Given the description of an element on the screen output the (x, y) to click on. 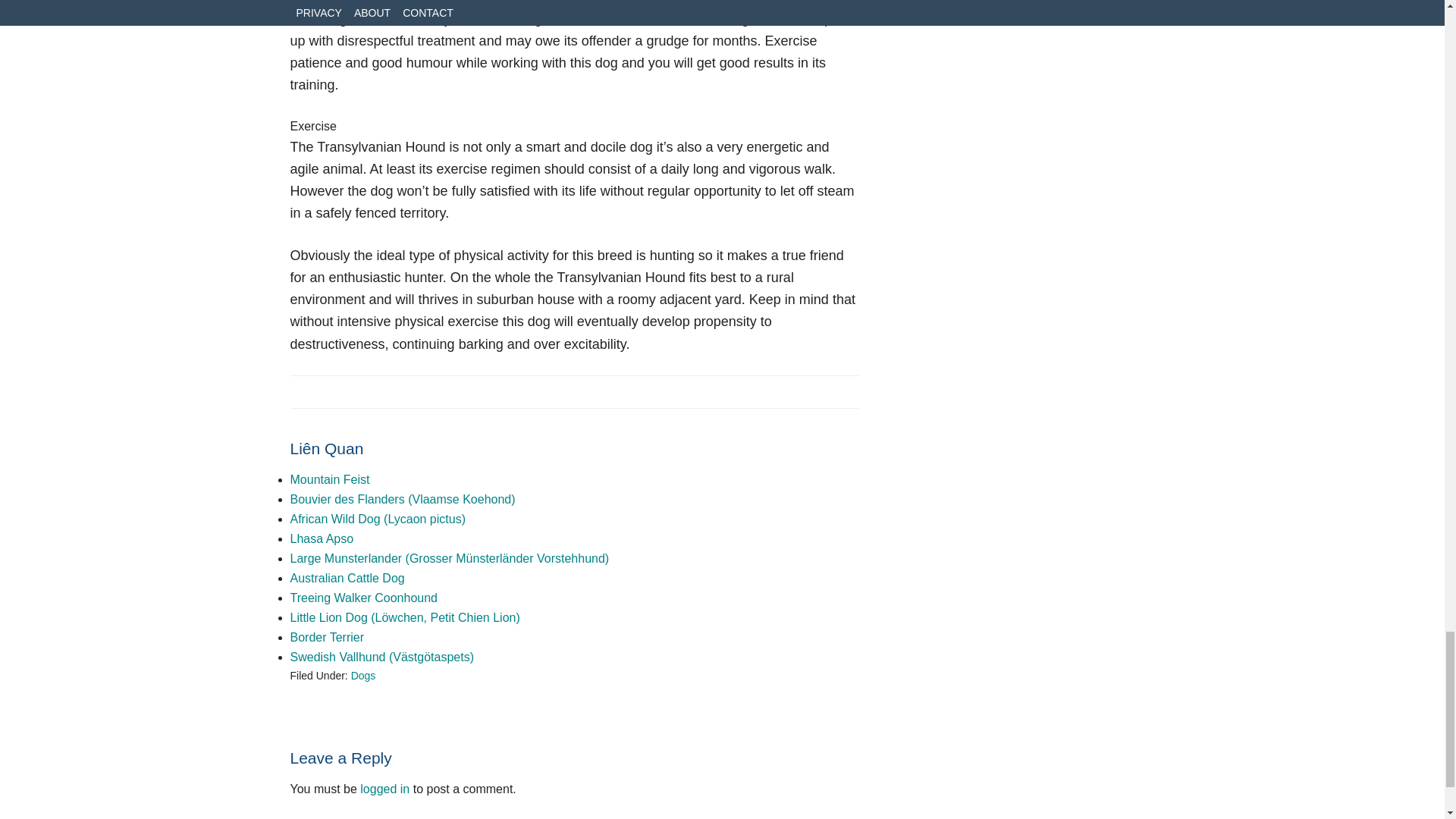
Lhasa Apso (321, 538)
Permanent Link toAustralian Cattle Dog (346, 577)
Australian Cattle Dog (346, 577)
Treeing Walker Coonhound (362, 597)
Border Terrier (326, 636)
Permanent Link toTreeing Walker Coonhound (362, 597)
Permanent Link toLhasa Apso (321, 538)
logged in (384, 788)
Mountain Feist (329, 479)
Permanent Link toBorder Terrier (326, 636)
Permanent Link toMountain Feist (329, 479)
Dogs (362, 675)
